Given the description of an element on the screen output the (x, y) to click on. 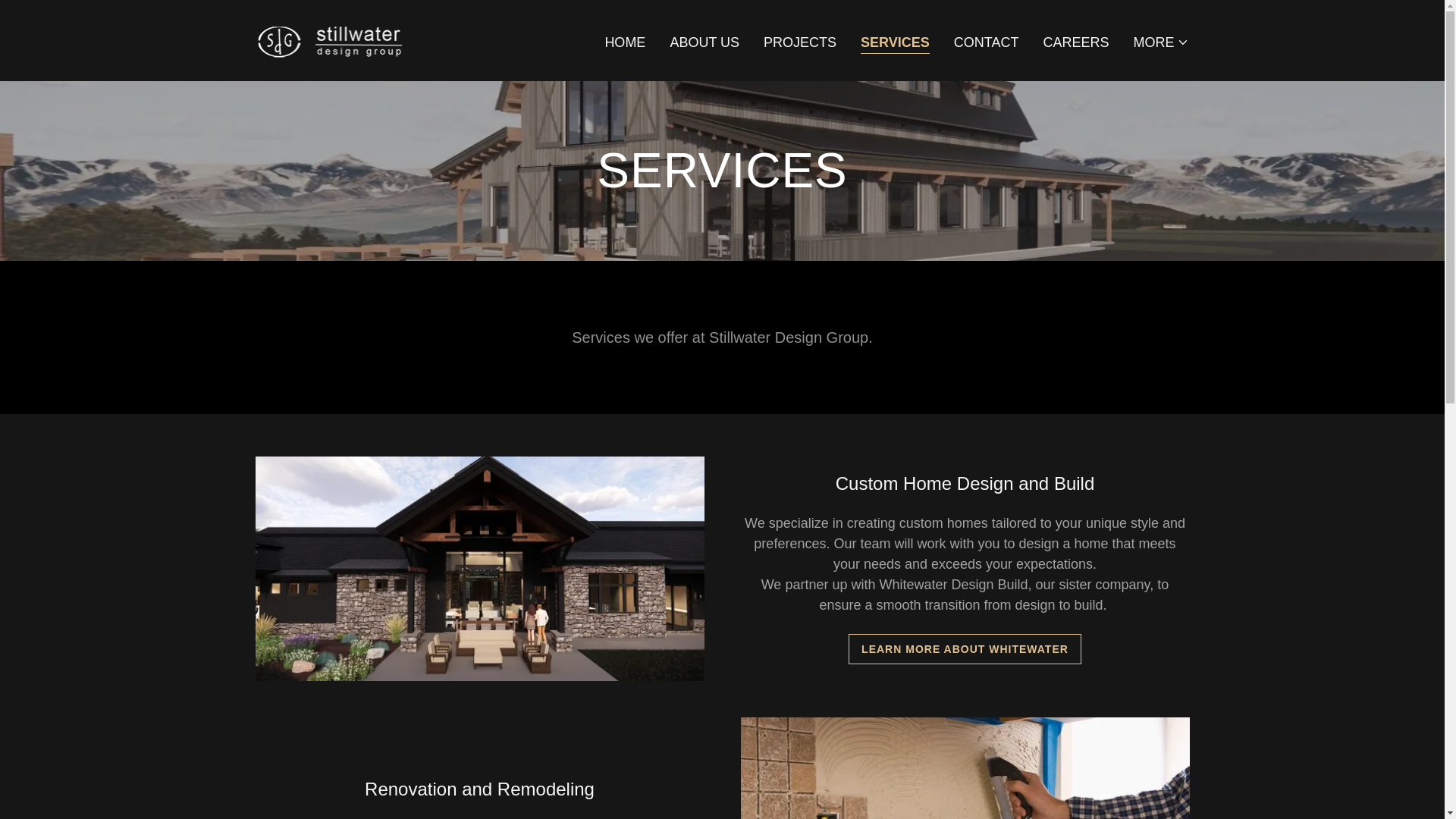
LEARN MORE ABOUT WHITEWATER (964, 648)
MORE (1160, 42)
CONTACT (986, 42)
HOME (624, 42)
SERVICES (895, 43)
PROJECTS (799, 42)
CAREERS (1075, 42)
ABOUT US (704, 42)
Stillwater Design Group (330, 38)
